Given the description of an element on the screen output the (x, y) to click on. 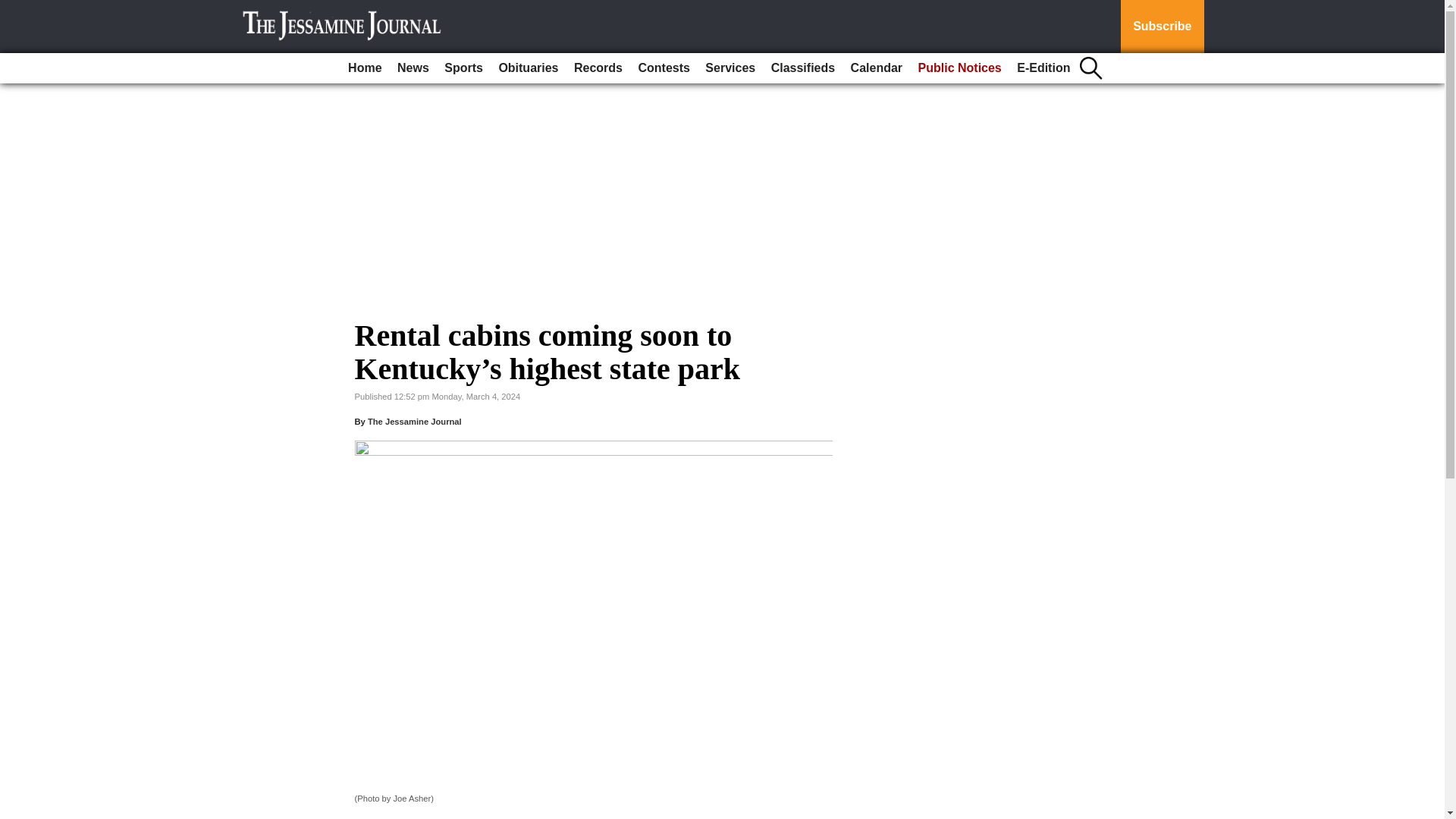
Obituaries (528, 68)
Calendar (876, 68)
Contests (663, 68)
Public Notices (959, 68)
E-Edition (1042, 68)
Go (13, 9)
Services (729, 68)
Home (364, 68)
Records (597, 68)
The Jessamine Journal (414, 420)
Sports (463, 68)
Subscribe (1162, 26)
News (413, 68)
Classifieds (803, 68)
